Given the description of an element on the screen output the (x, y) to click on. 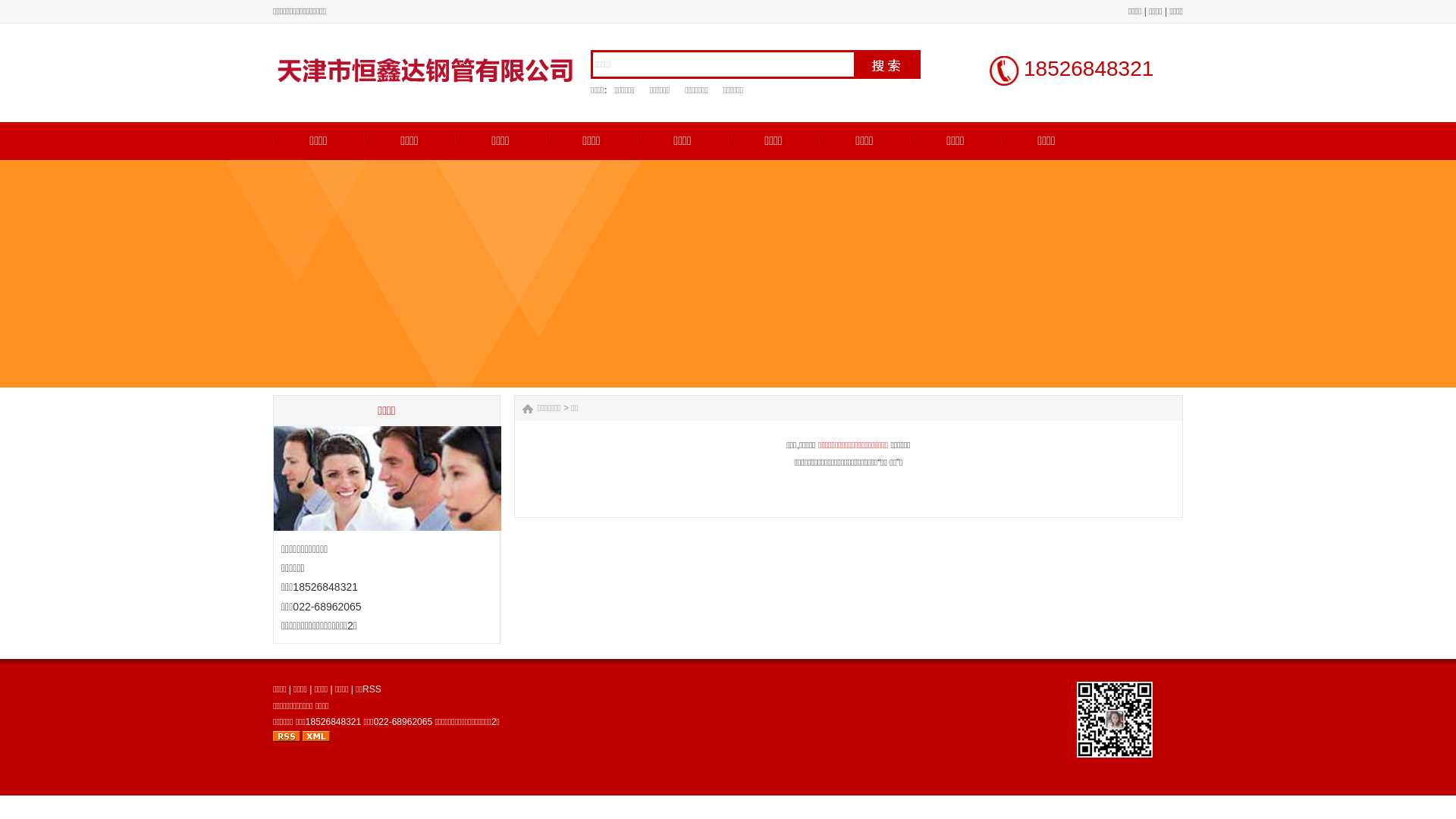
  Element type: text (886, 64)
